Given the description of an element on the screen output the (x, y) to click on. 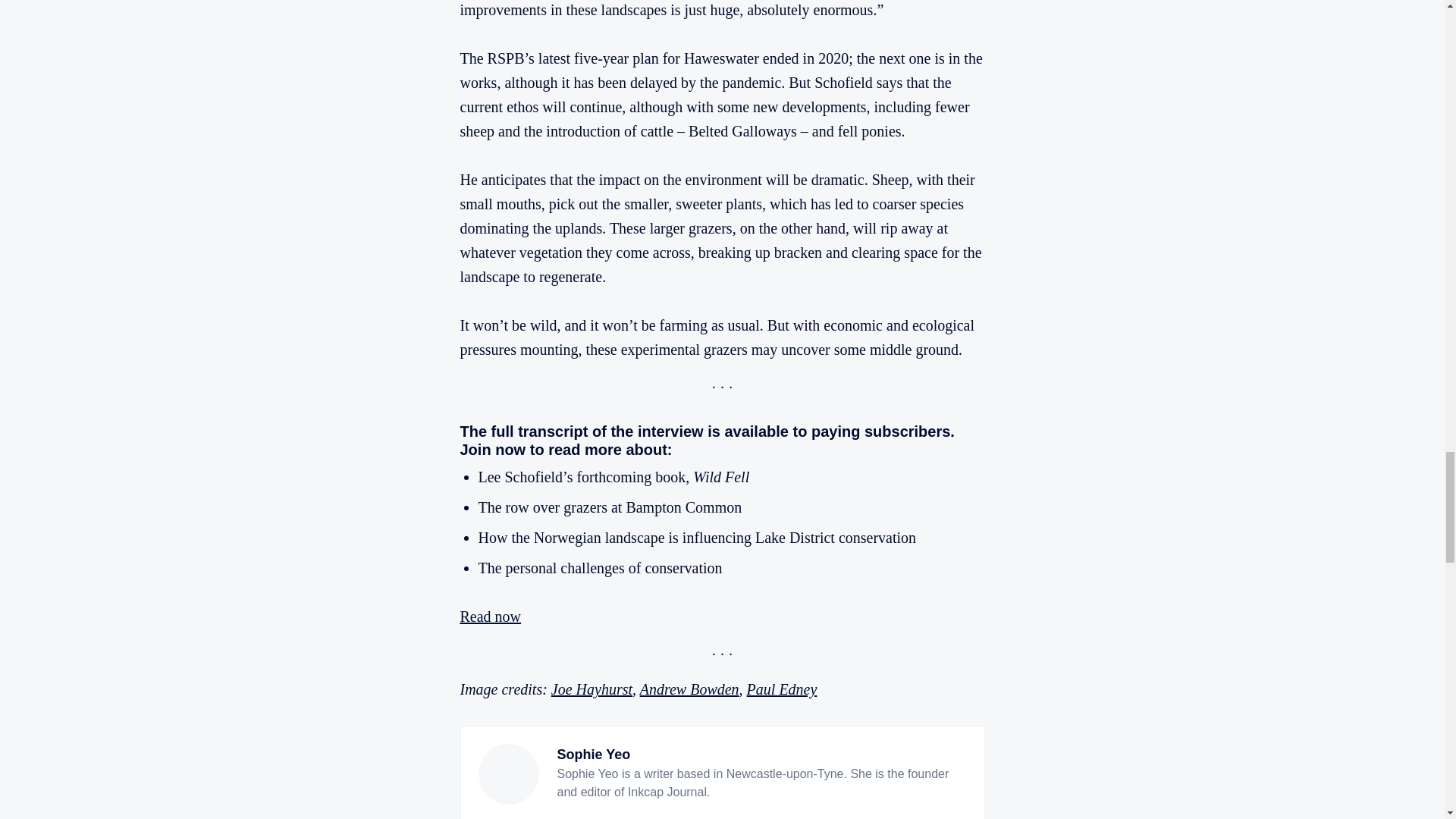
Joe Hayhurst (591, 688)
Read now (490, 616)
Sophie Yeo (593, 754)
Paul Edney (781, 688)
Andrew Bowden (689, 688)
